Given the description of an element on the screen output the (x, y) to click on. 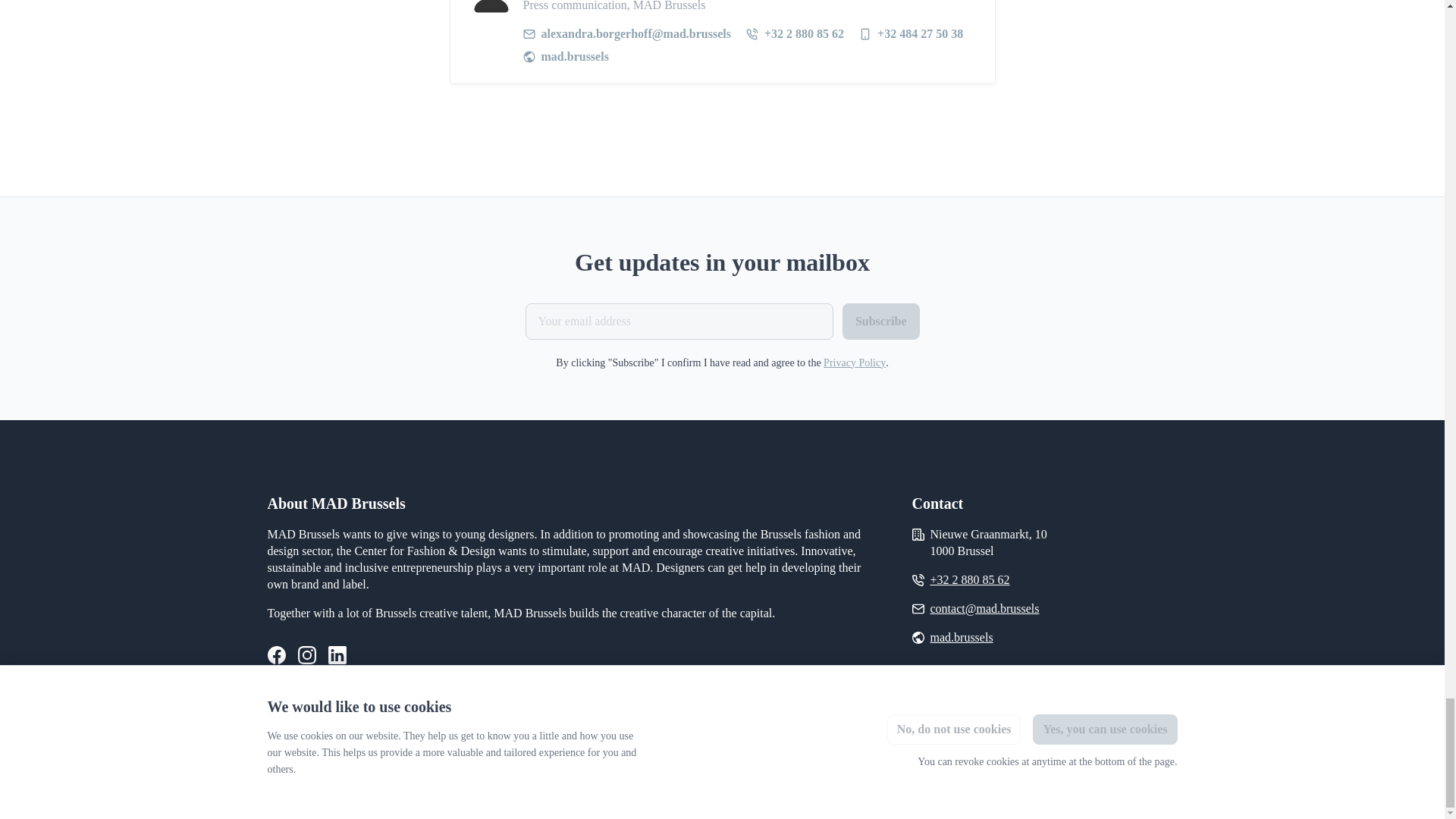
mad.brussels (565, 56)
Alexandra Borgerhoff (490, 9)
Privacy requests (301, 779)
Made with (1111, 779)
Subscribe (881, 321)
Privacy Policy (854, 362)
mad.brussels (961, 637)
Start using cookies (389, 779)
